Given the description of an element on the screen output the (x, y) to click on. 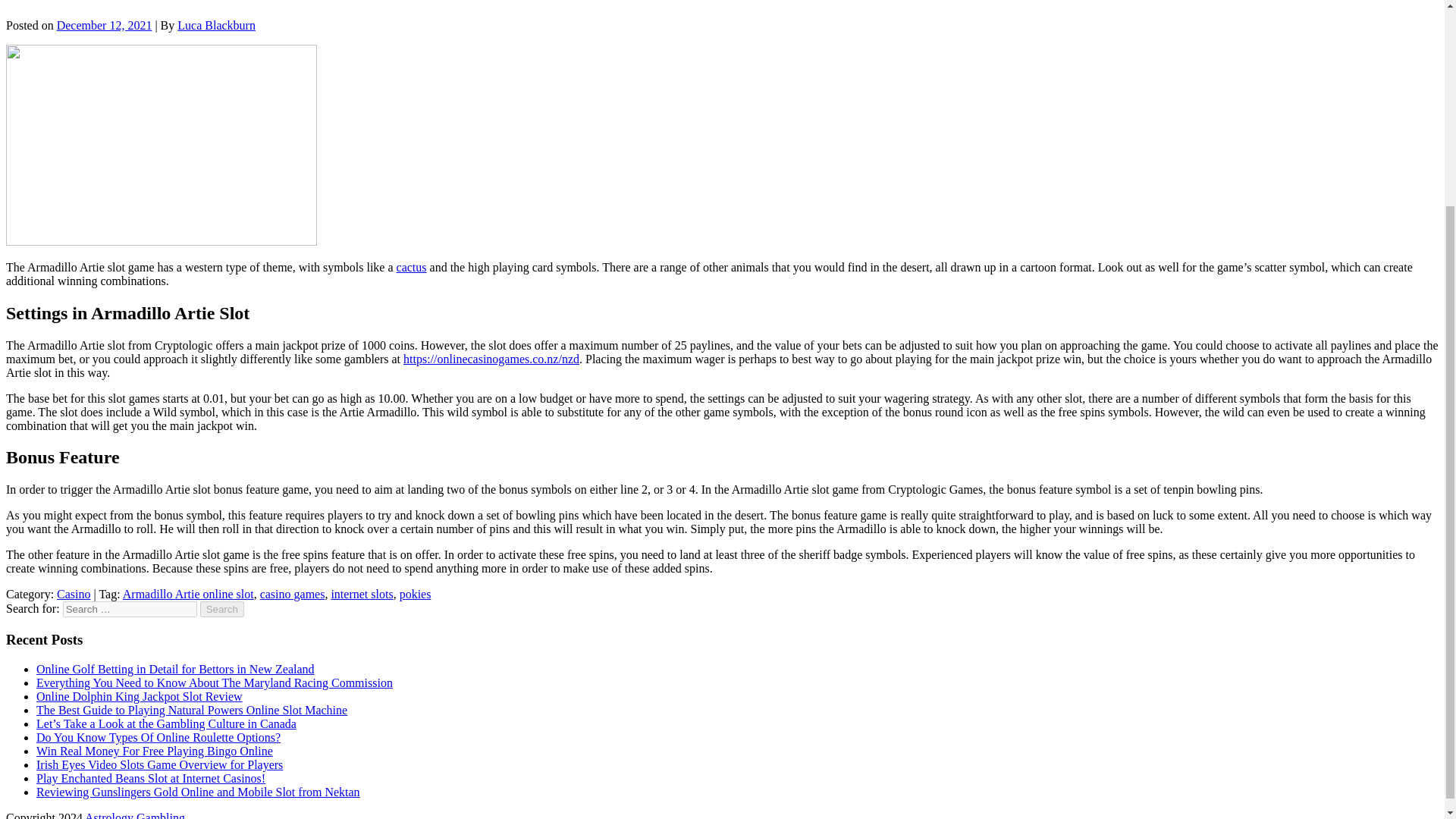
cactus (411, 267)
December 12, 2021 (104, 24)
The Best Guide to Playing Natural Powers Online Slot Machine (191, 709)
Online Golf Betting in Detail for Bettors in New Zealand (175, 668)
Online Dolphin King Jackpot Slot Review (139, 696)
Win Real Money For Free Playing Bingo Online (154, 750)
Casino (73, 594)
casino games (292, 594)
Search (222, 609)
Search (222, 609)
